Given the description of an element on the screen output the (x, y) to click on. 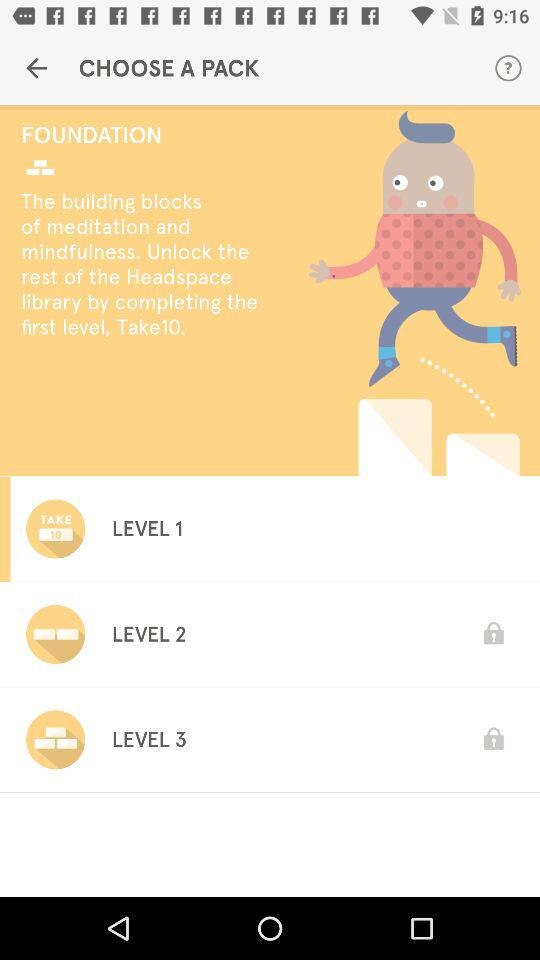
tap the the building blocks (145, 263)
